Given the description of an element on the screen output the (x, y) to click on. 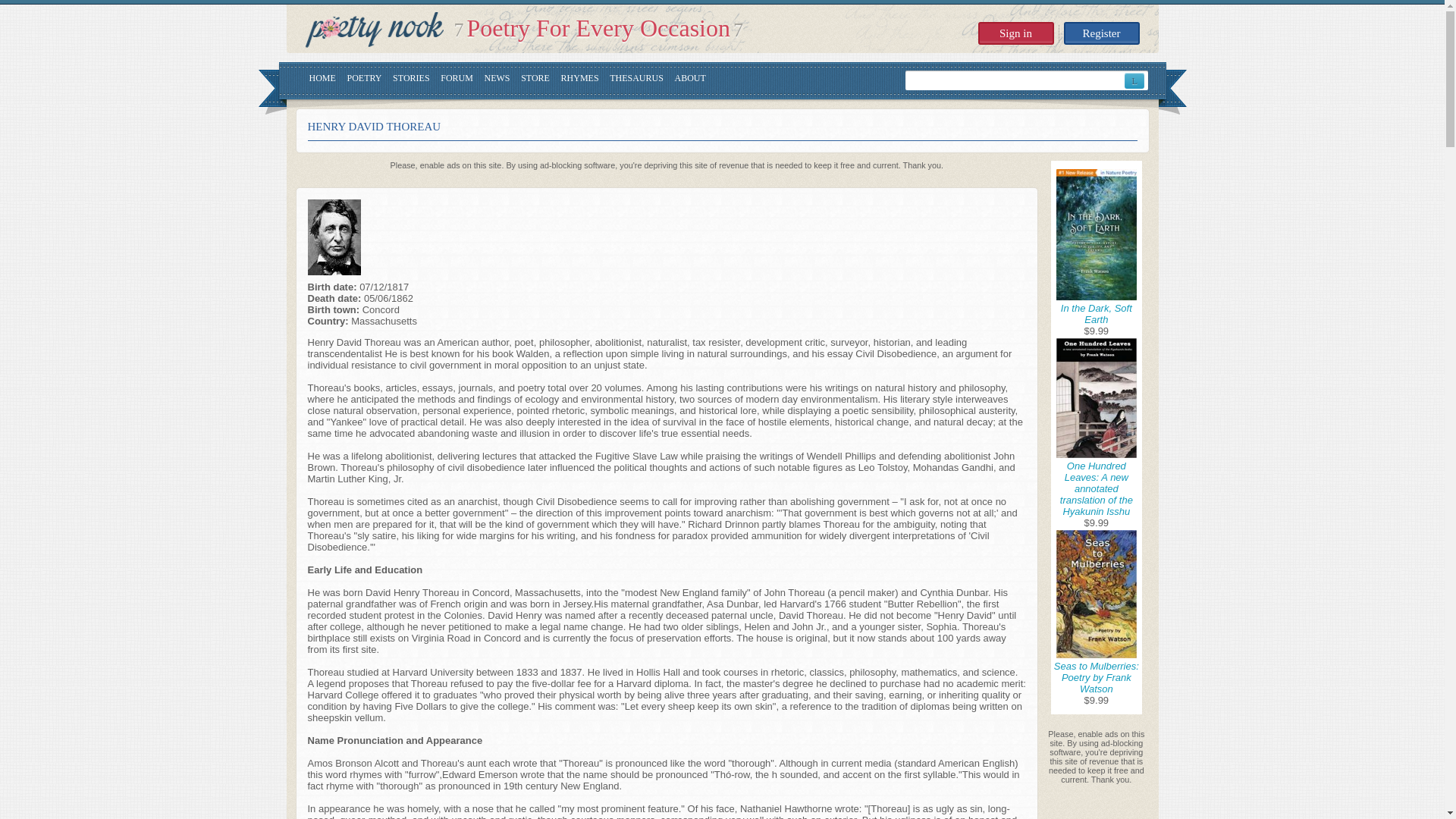
THESAURUS (636, 79)
L (1134, 80)
Sign in (1016, 33)
FORUM (457, 79)
Register (1100, 33)
NEWS (497, 79)
RHYMES (579, 79)
Home (373, 29)
POETRY (363, 79)
STORE (535, 79)
Enter the terms you wish to search for. (1014, 80)
HOME (322, 79)
ABOUT (690, 79)
L (1134, 80)
